Given the description of an element on the screen output the (x, y) to click on. 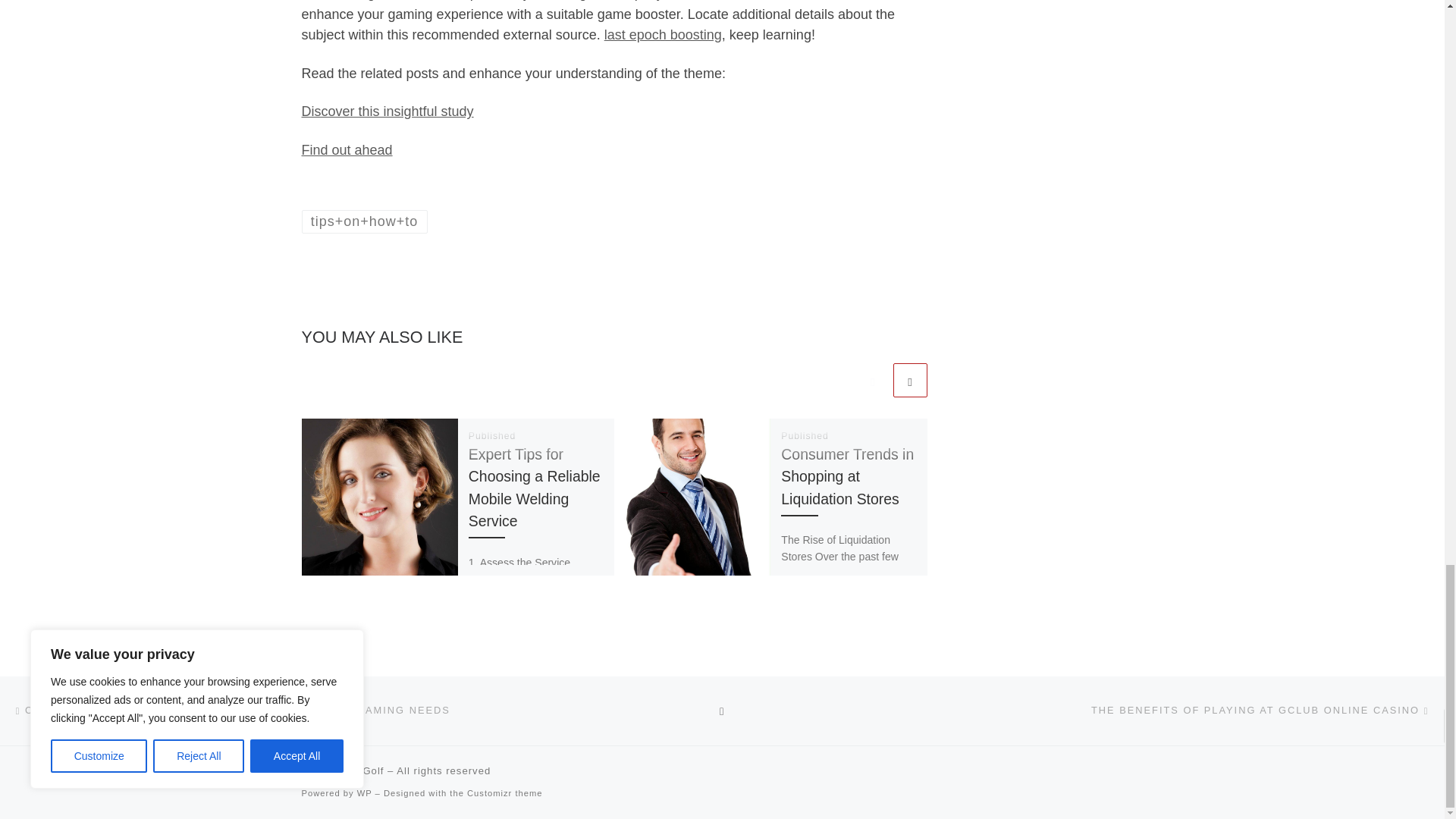
Next related articles (910, 380)
Discover this insightful study (387, 111)
Previous related articles (872, 380)
last epoch boosting (663, 34)
Powered by WordPress (364, 792)
Find out ahead (347, 150)
Wrt Golf (363, 770)
